Given the description of an element on the screen output the (x, y) to click on. 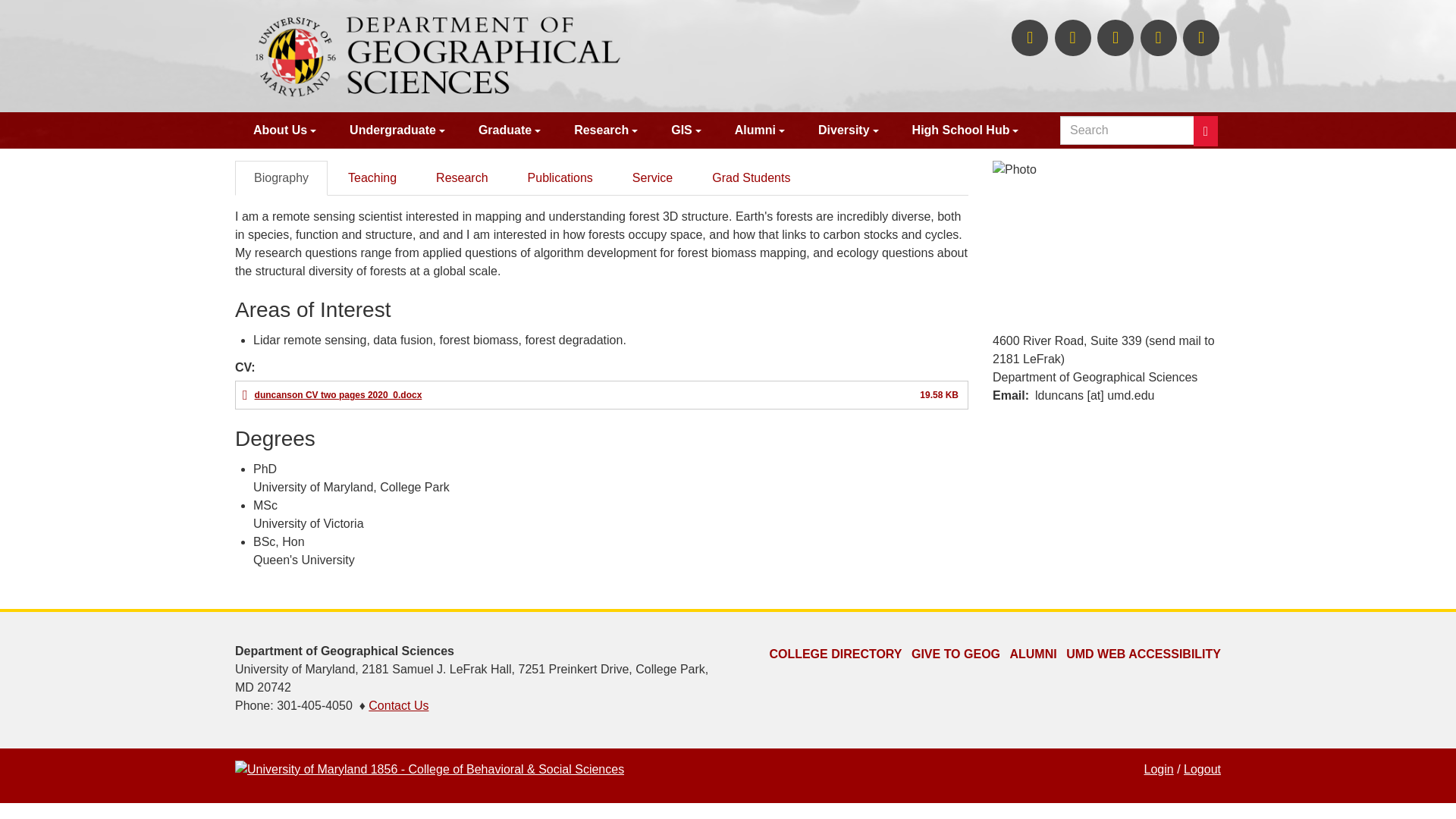
Instagram (1072, 37)
LinkedIn (1115, 37)
Facebook (1201, 37)
Twitter (1029, 37)
YouTube (1158, 37)
Instagram (1072, 37)
YouTube (1158, 37)
Open file in new window (338, 394)
LinkedIn (1115, 37)
